Given the description of an element on the screen output the (x, y) to click on. 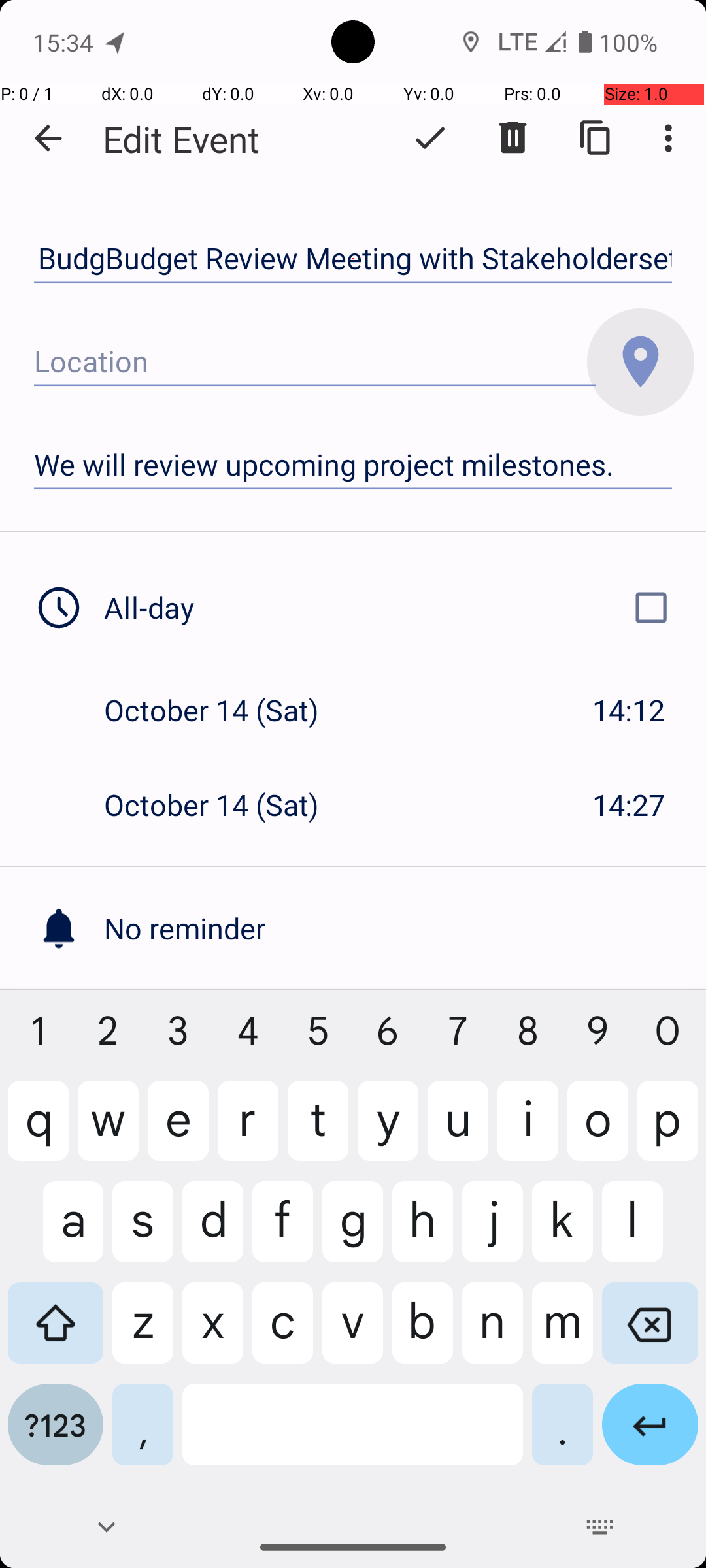
Review session for BudgBudget Review Meeting with Stakeholderset Planning Element type: android.widget.EditText (352, 258)
We will review upcoming project milestones. Element type: android.widget.EditText (352, 465)
October 14 (Sat) Element type: android.widget.TextView (224, 709)
14:12 Element type: android.widget.TextView (628, 709)
14:27 Element type: android.widget.TextView (628, 804)
